Given the description of an element on the screen output the (x, y) to click on. 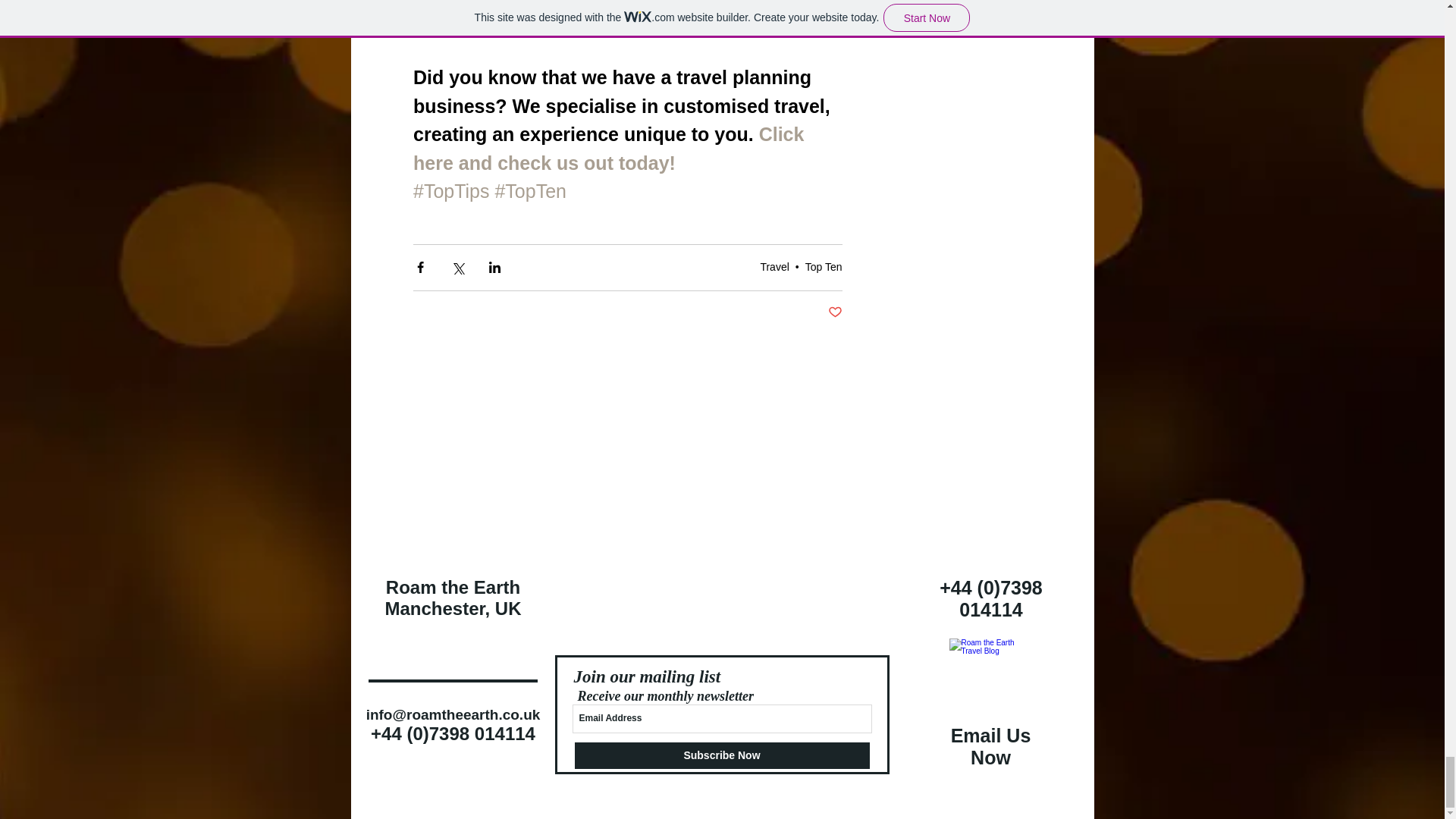
Post not marked as liked (835, 312)
Contact Us (991, 680)
Travel (774, 266)
Click here and check us out today! (610, 148)
Top Ten (824, 266)
